Given the description of an element on the screen output the (x, y) to click on. 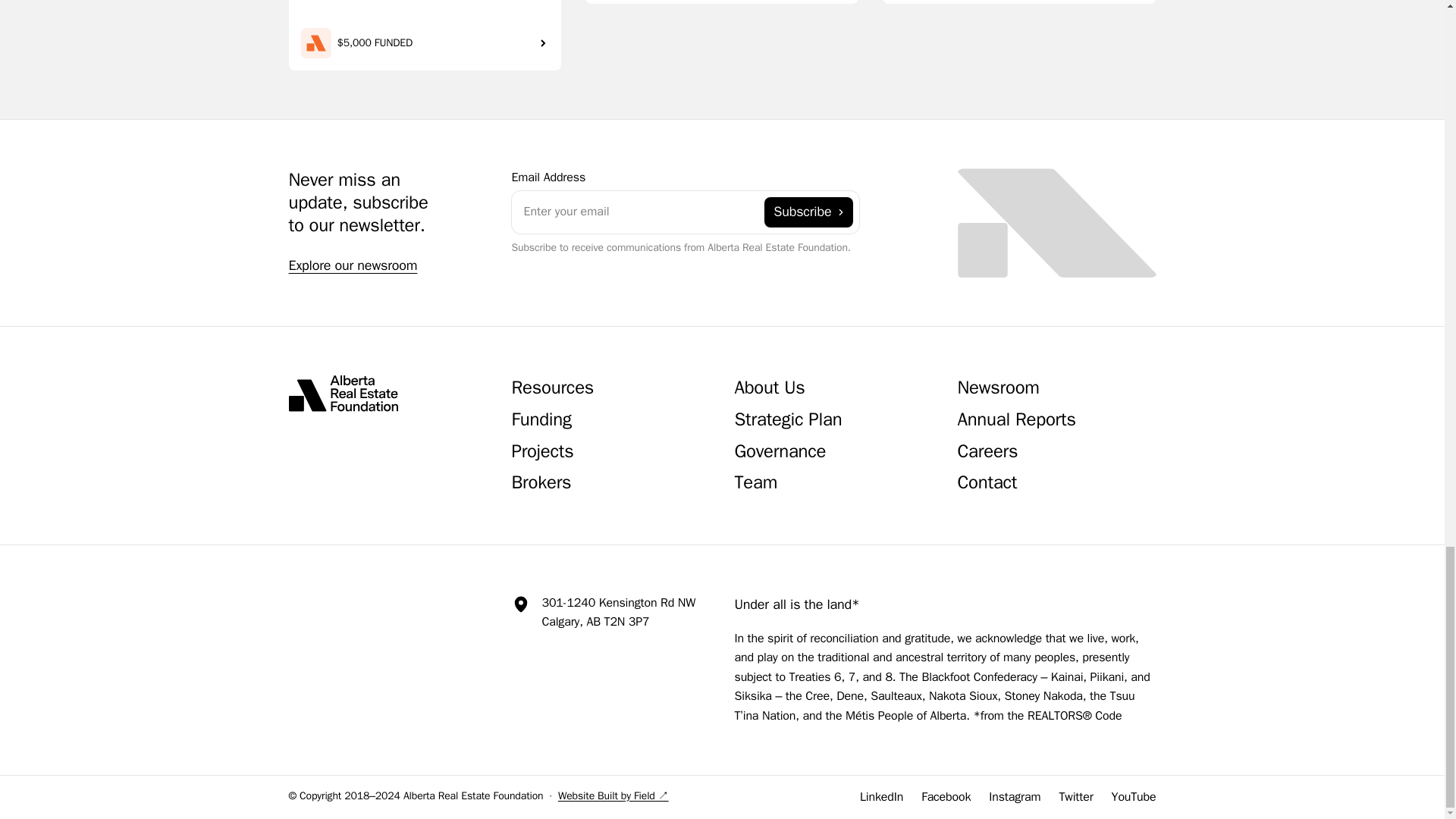
Governance (779, 453)
Projects (542, 453)
Explore our newsroom (352, 265)
Contact (986, 484)
Strategic Plan (787, 421)
LinkedIn (881, 796)
Annual Reports (1015, 421)
Funding (540, 421)
About Us (769, 389)
Brokers (540, 484)
